Given the description of an element on the screen output the (x, y) to click on. 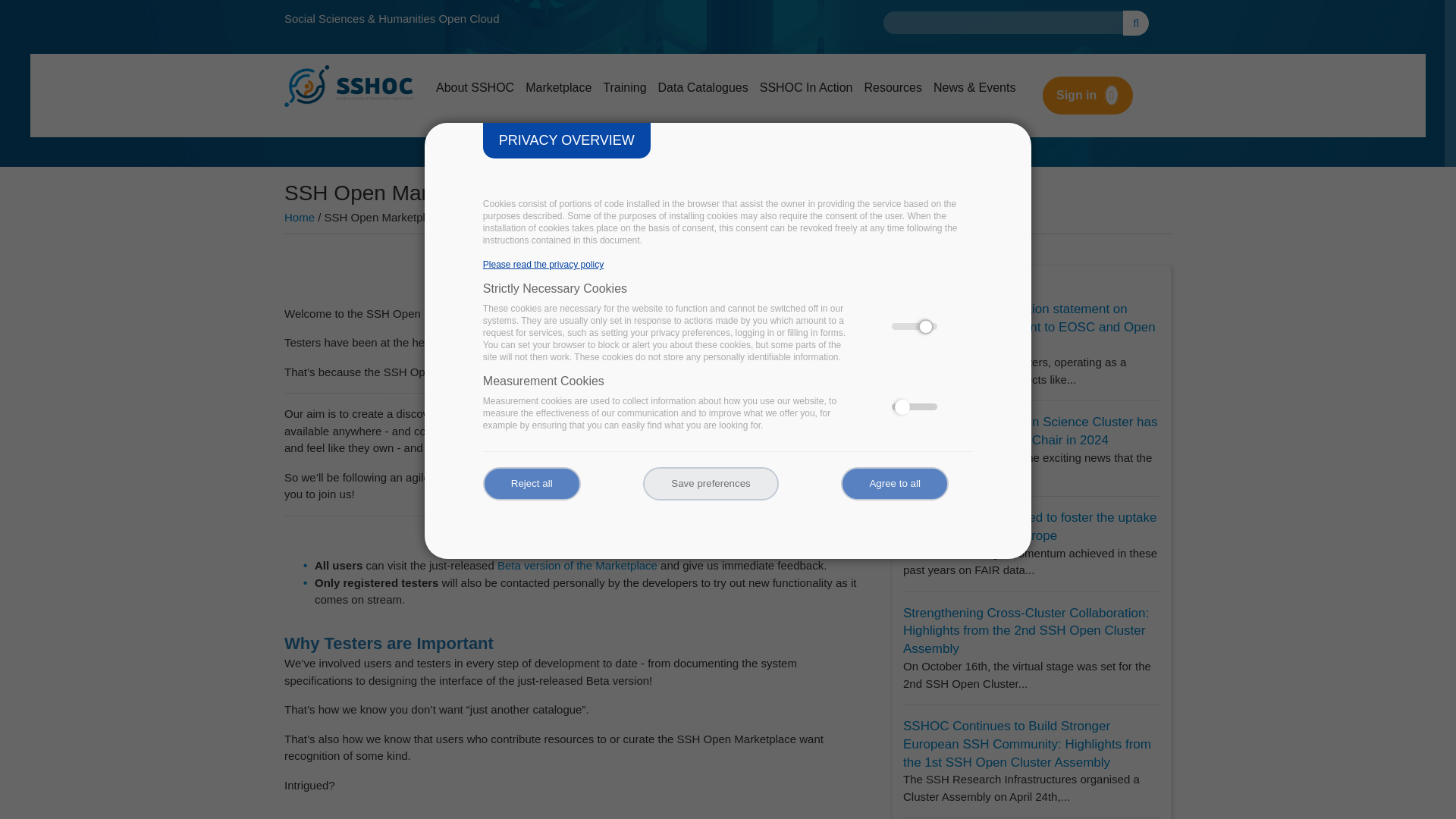
Go to search (1135, 23)
